Given the description of an element on the screen output the (x, y) to click on. 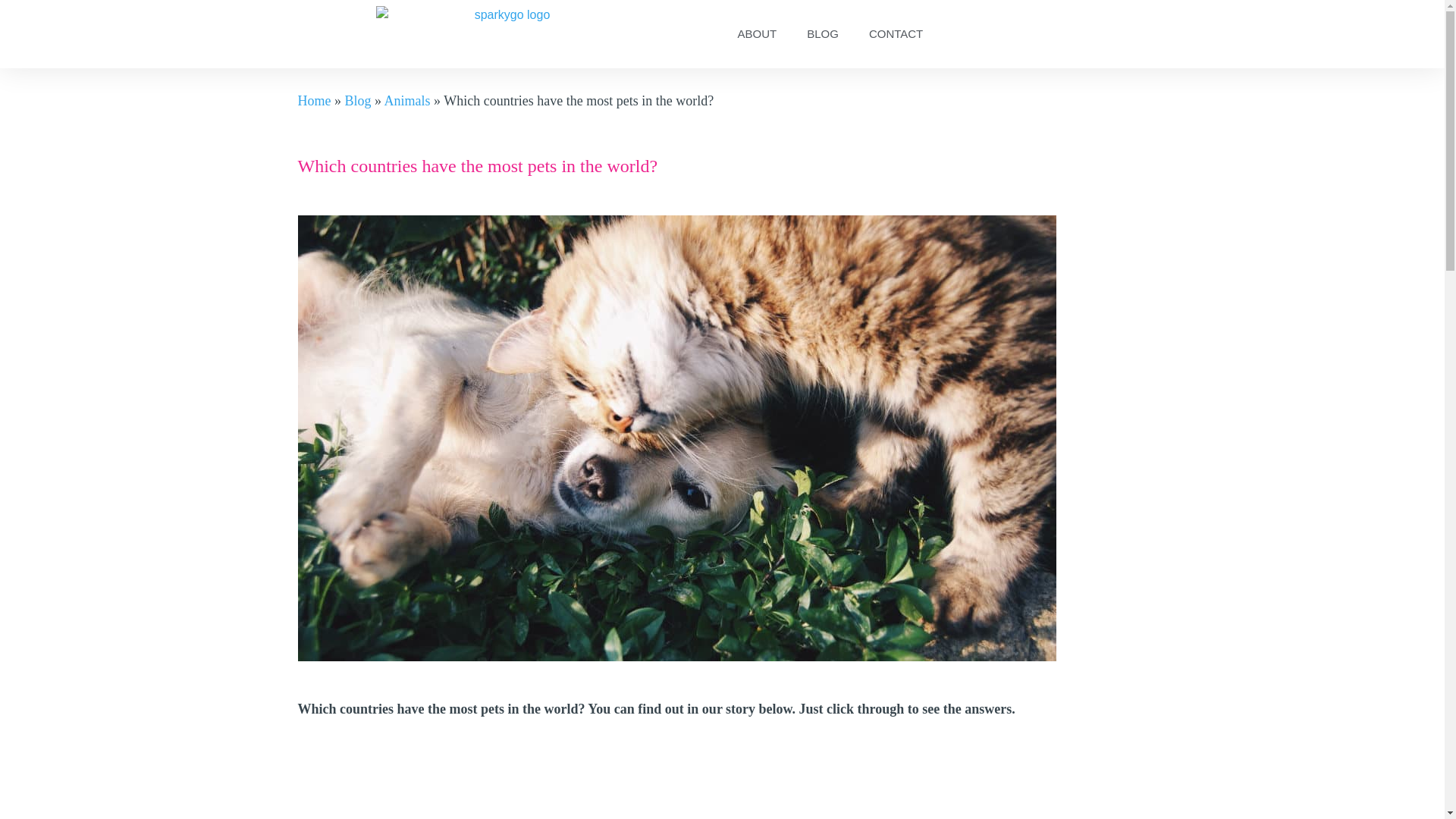
Blog (357, 100)
Animals (407, 100)
BLOG (822, 33)
ABOUT (757, 33)
CONTACT (895, 33)
Home (313, 100)
